Given the description of an element on the screen output the (x, y) to click on. 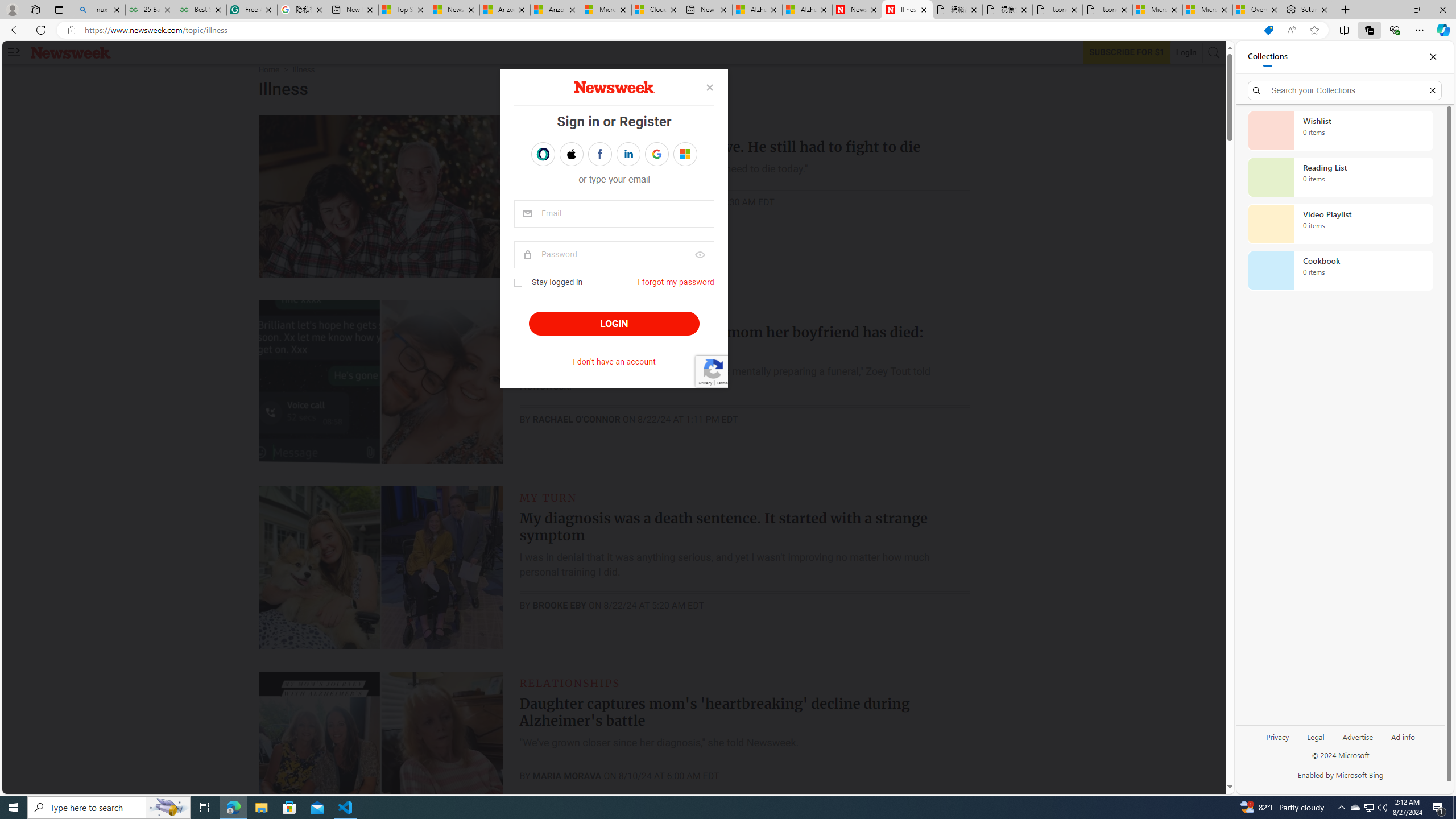
Cookbook collection, 0 items (1339, 270)
Split screen (1344, 29)
Sign in with APPLE (571, 154)
Collections (1369, 29)
Collections (1267, 56)
Ad info (1402, 736)
Tab actions menu (58, 9)
Legal (1315, 736)
Illness news & latest pictures from Newsweek.com (907, 9)
AutomationID: side-arrow (13, 51)
View site information (70, 29)
Settings (1308, 9)
MY TURN (547, 497)
Newsweek logo (70, 51)
